Given the description of an element on the screen output the (x, y) to click on. 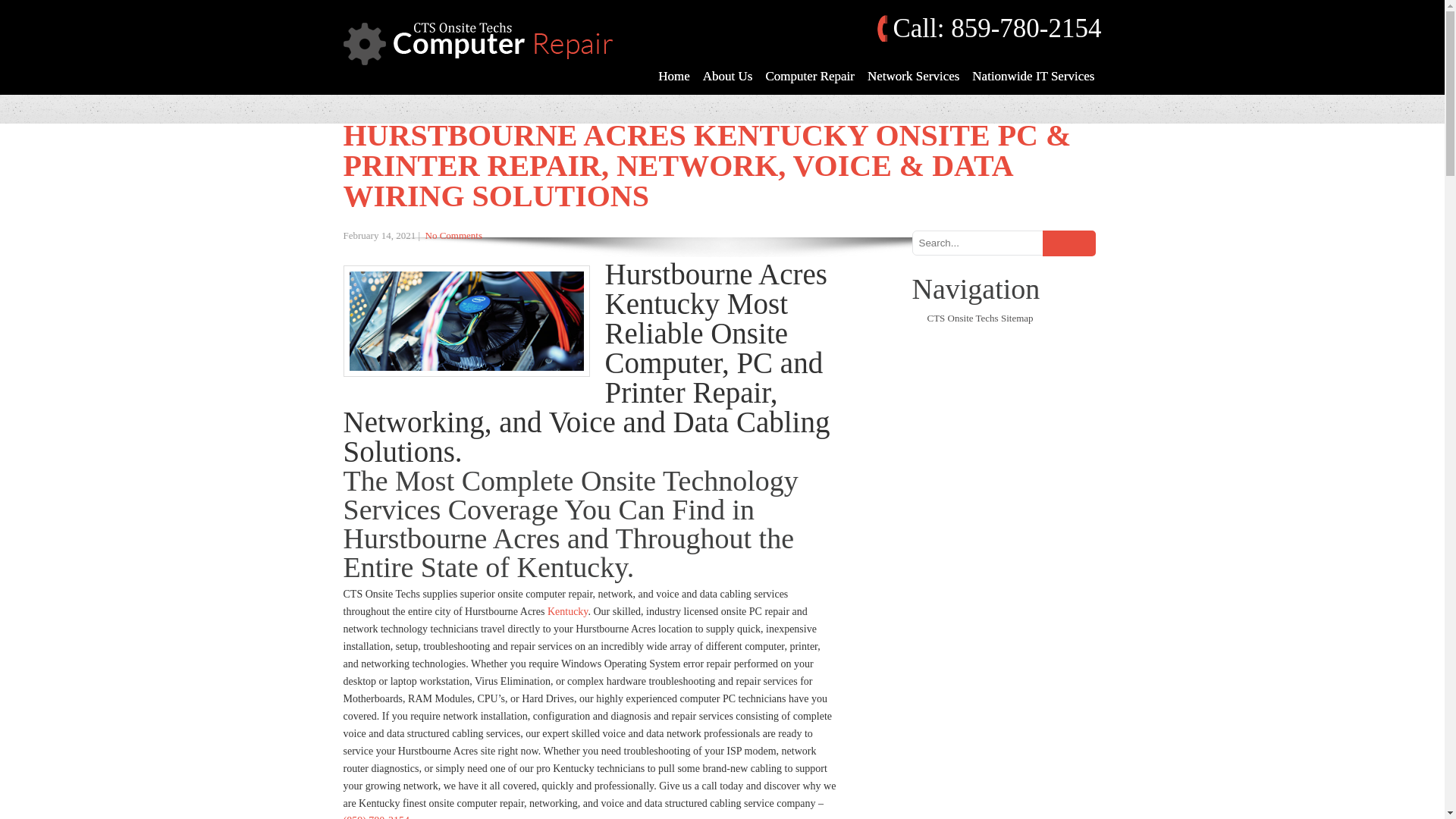
Nationwide IT Services (1033, 76)
Kentucky (567, 611)
Search (1068, 243)
Search (1068, 243)
Home (673, 76)
No Comments (453, 235)
Computer Repair (809, 76)
About Us (727, 76)
Network Services (913, 76)
